Given the description of an element on the screen output the (x, y) to click on. 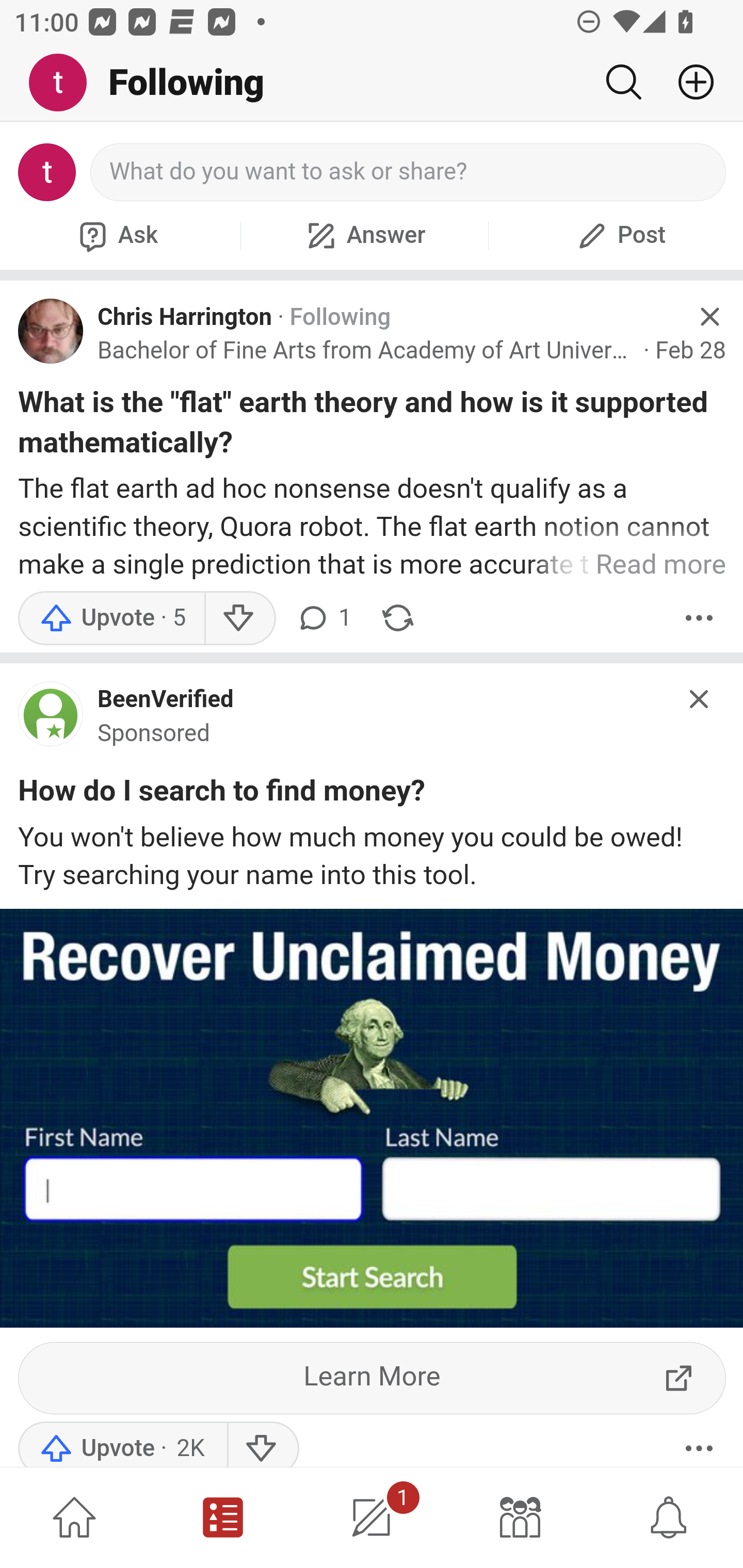
Me (64, 83)
Search (623, 82)
Add (688, 82)
What do you want to ask or share? (408, 172)
Ask (116, 234)
Answer (364, 234)
Post (618, 234)
Hide (709, 316)
Profile photo for Chris Harrington (50, 330)
Chris Harrington (184, 316)
Upvote (111, 617)
Downvote (238, 617)
1 comment (323, 617)
Share (398, 617)
More (699, 617)
Hide (699, 699)
main-qimg-afc4973c94a1781f59eb5c2be352d562 (50, 717)
BeenVerified (165, 700)
How do I search to find money? (221, 794)
Learn More ExternalLink (372, 1377)
Upvote (122, 1444)
Downvote (262, 1444)
More (699, 1444)
1 (371, 1517)
